Given the description of an element on the screen output the (x, y) to click on. 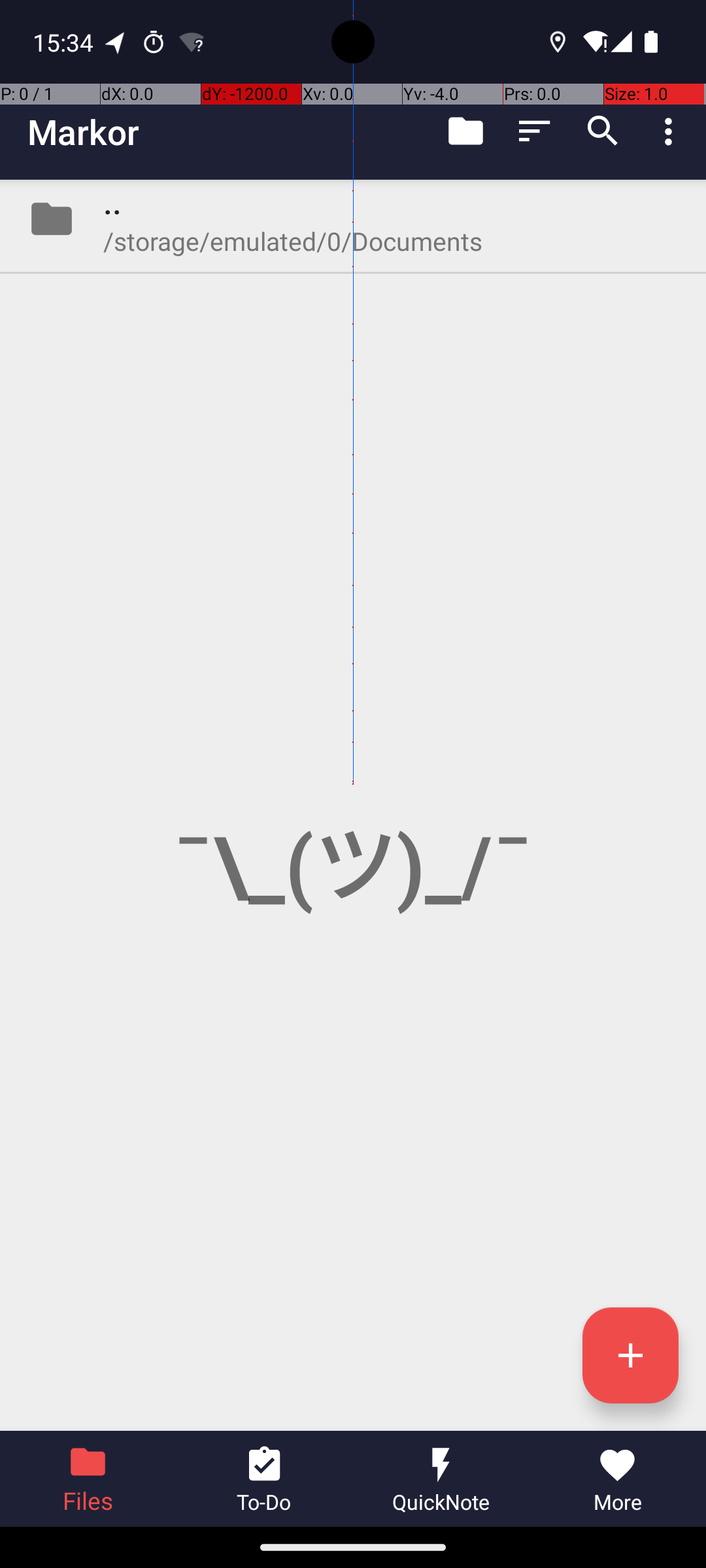
Folder .. /storage Element type: android.widget.LinearLayout (353, 218)
